Given the description of an element on the screen output the (x, y) to click on. 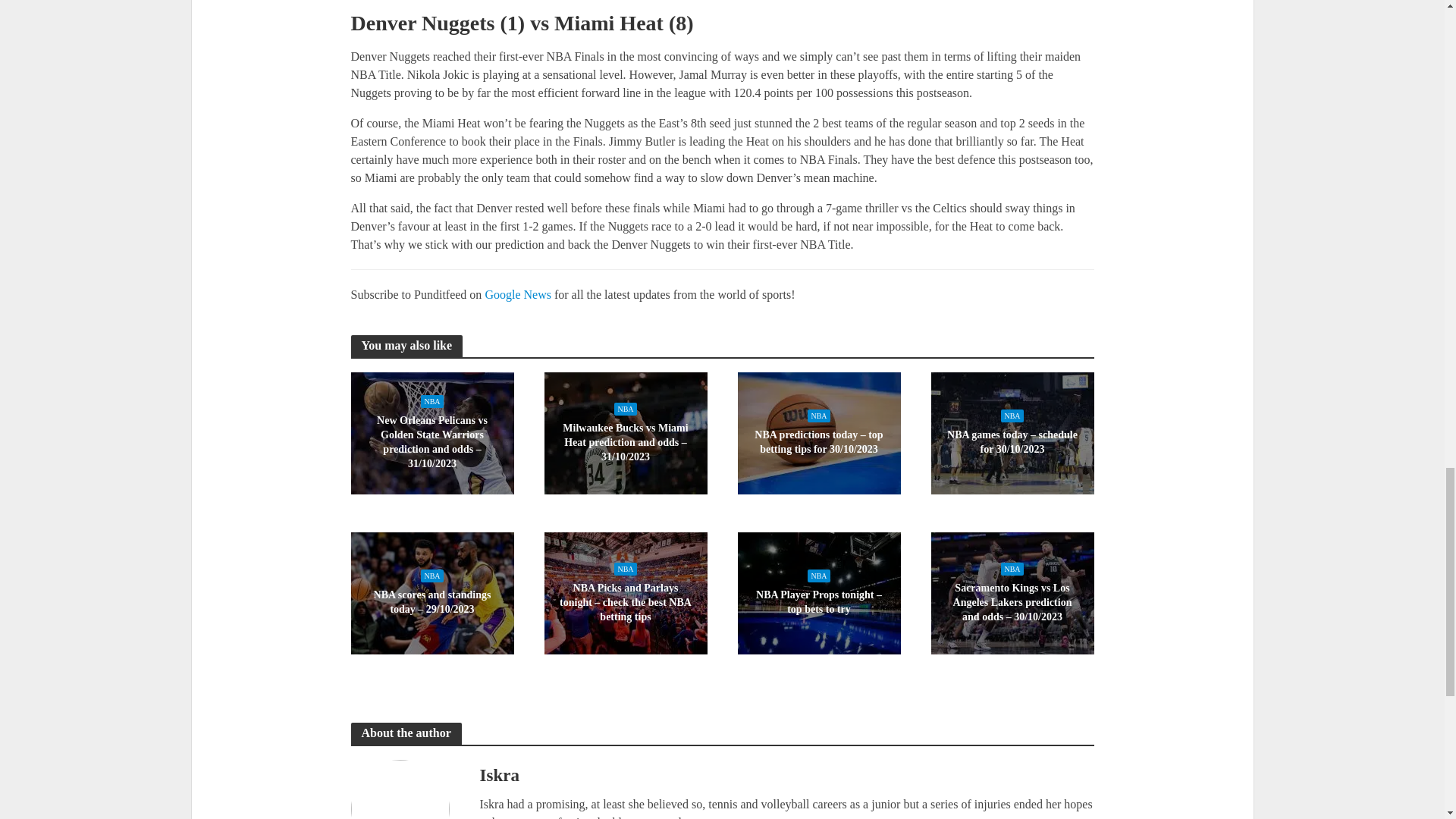
NBA Player Props tonight - top bets to try 8 (817, 593)
